Given the description of an element on the screen output the (x, y) to click on. 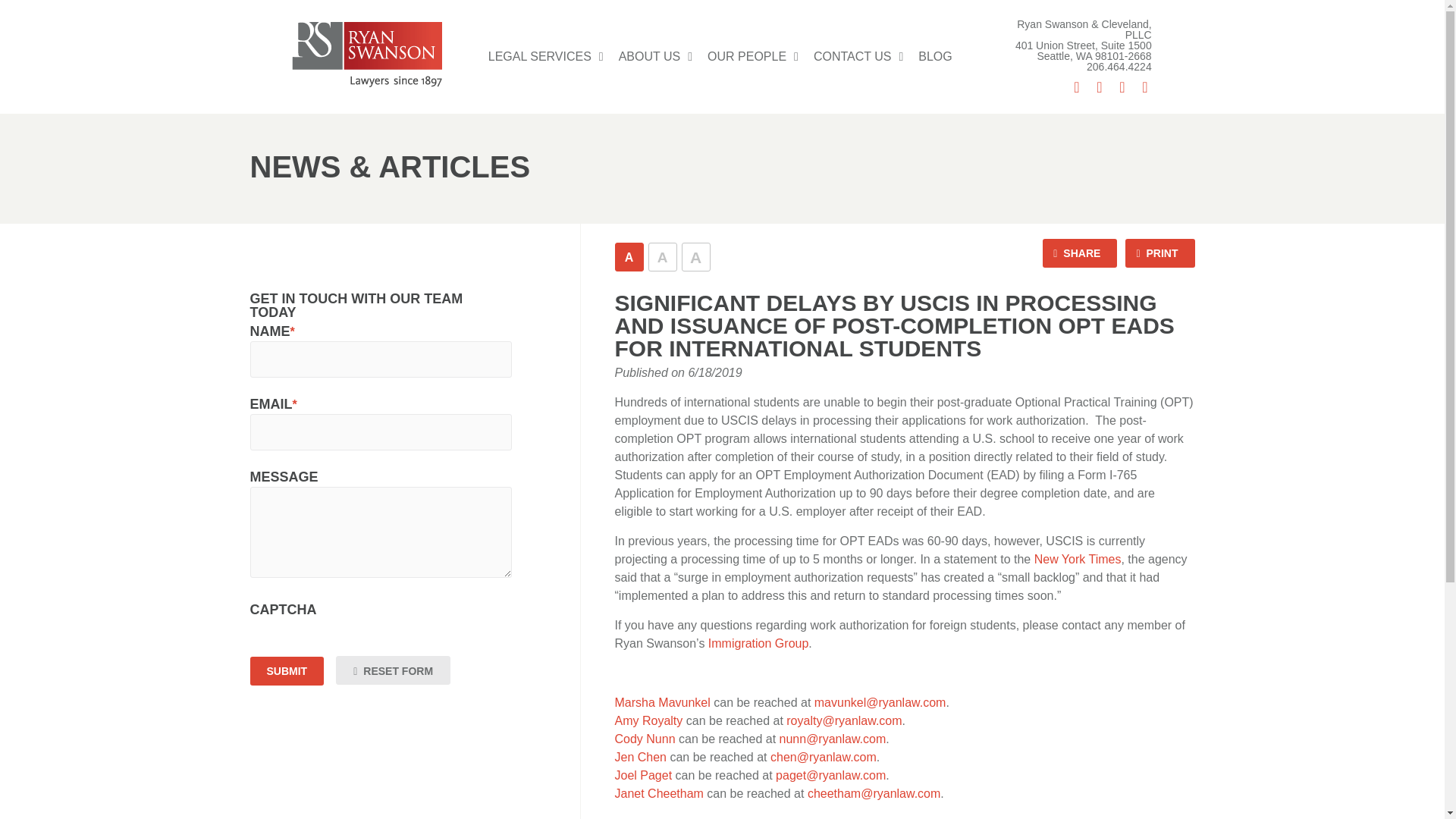
LEGAL SERVICES (545, 56)
ABOUT US (655, 56)
OUR PEOPLE (753, 56)
Submit (287, 670)
